Given the description of an element on the screen output the (x, y) to click on. 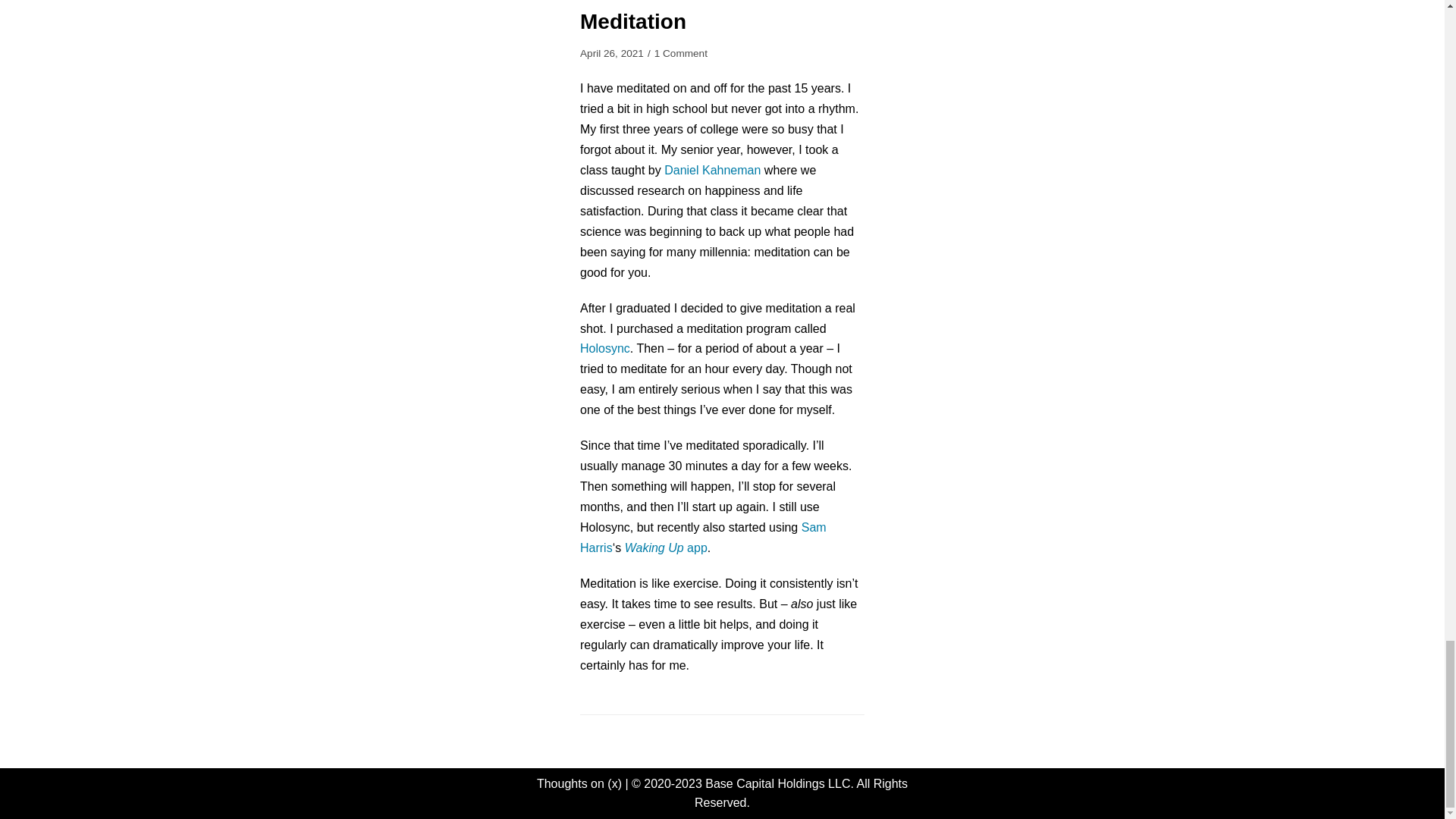
Meditation (632, 21)
Daniel Kahneman (711, 169)
Waking Up app (665, 547)
Sam Harris (703, 537)
1 Comment (680, 52)
Holosync (604, 348)
